Given the description of an element on the screen output the (x, y) to click on. 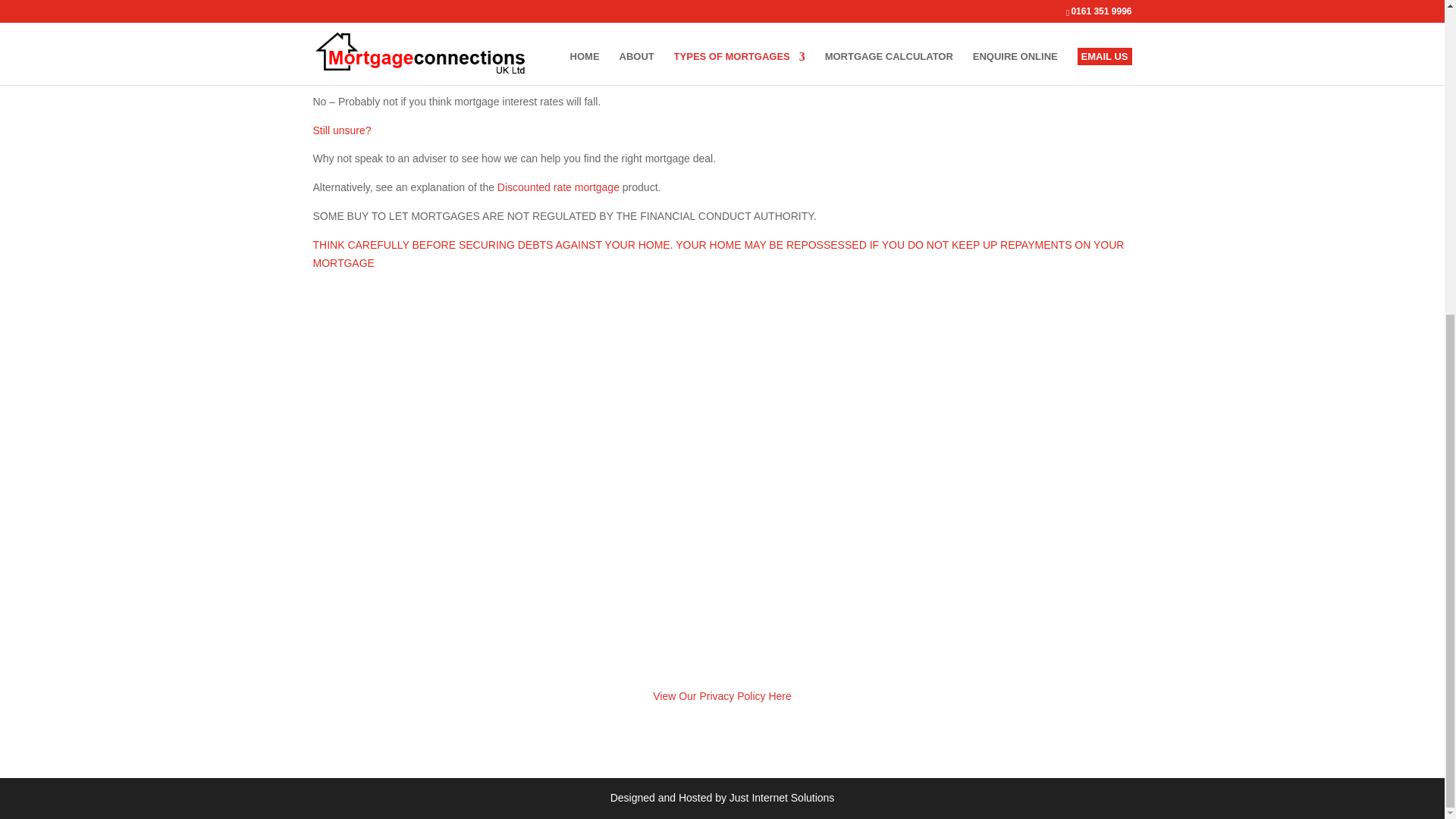
View Our Privacy Policy Here (722, 695)
0161 367 8075 (365, 480)
Discounted rate mortgage (558, 186)
0161 351 9996 (365, 451)
